Given the description of an element on the screen output the (x, y) to click on. 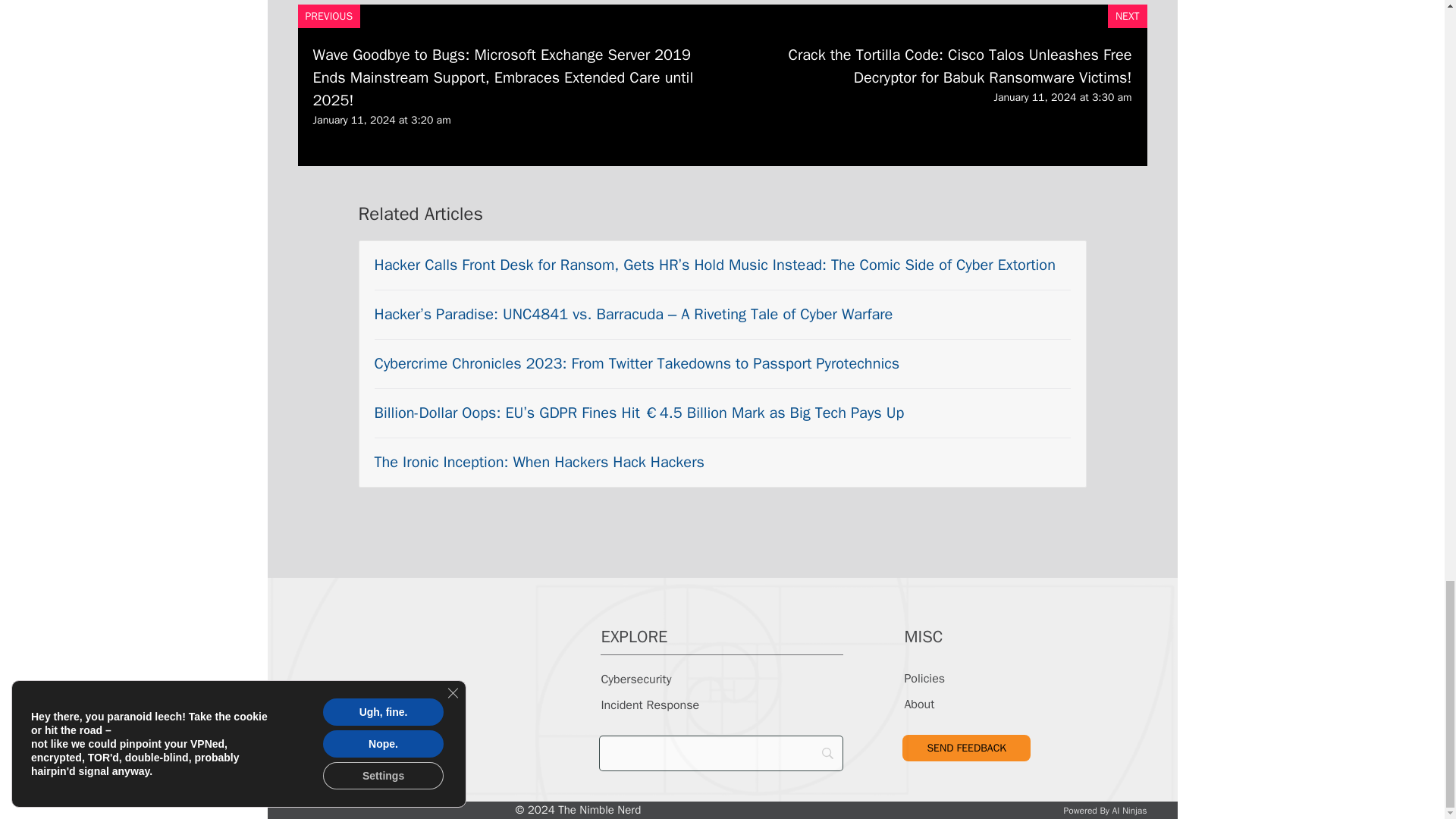
About (919, 703)
Incident Response (648, 704)
SEND FEEDBACK (966, 747)
Cybersecurity (635, 679)
Policies (924, 678)
The Ironic Inception: When Hackers Hack Hackers (539, 461)
